Given the description of an element on the screen output the (x, y) to click on. 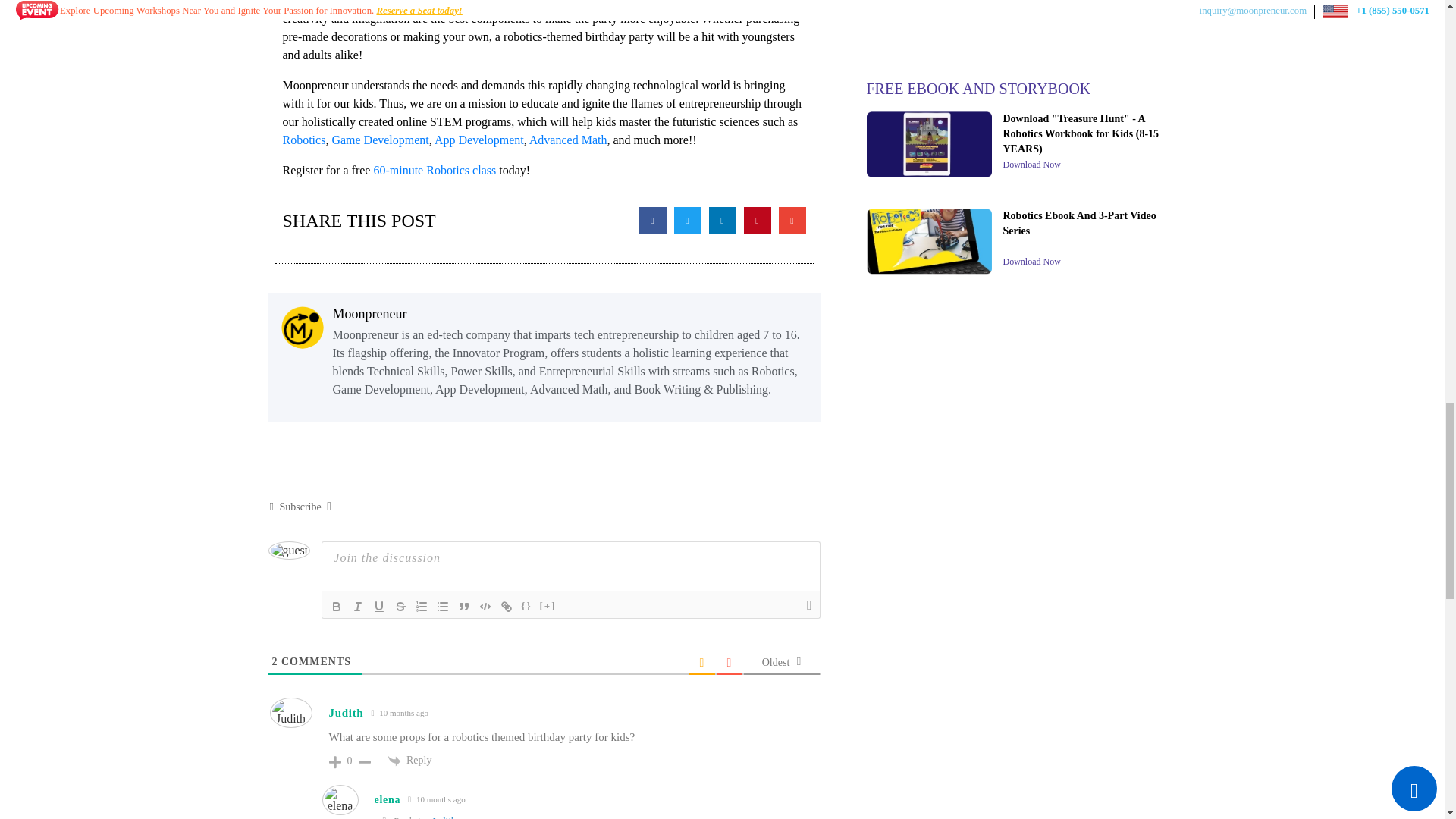
Ordered List (421, 606)
Underline (379, 606)
Spoiler (547, 606)
Unordered List (442, 606)
Bold (336, 606)
Link (506, 606)
Italic (357, 606)
Code Block (485, 606)
Blockquote (463, 606)
Strike (400, 606)
Source Code (525, 606)
